Given the description of an element on the screen output the (x, y) to click on. 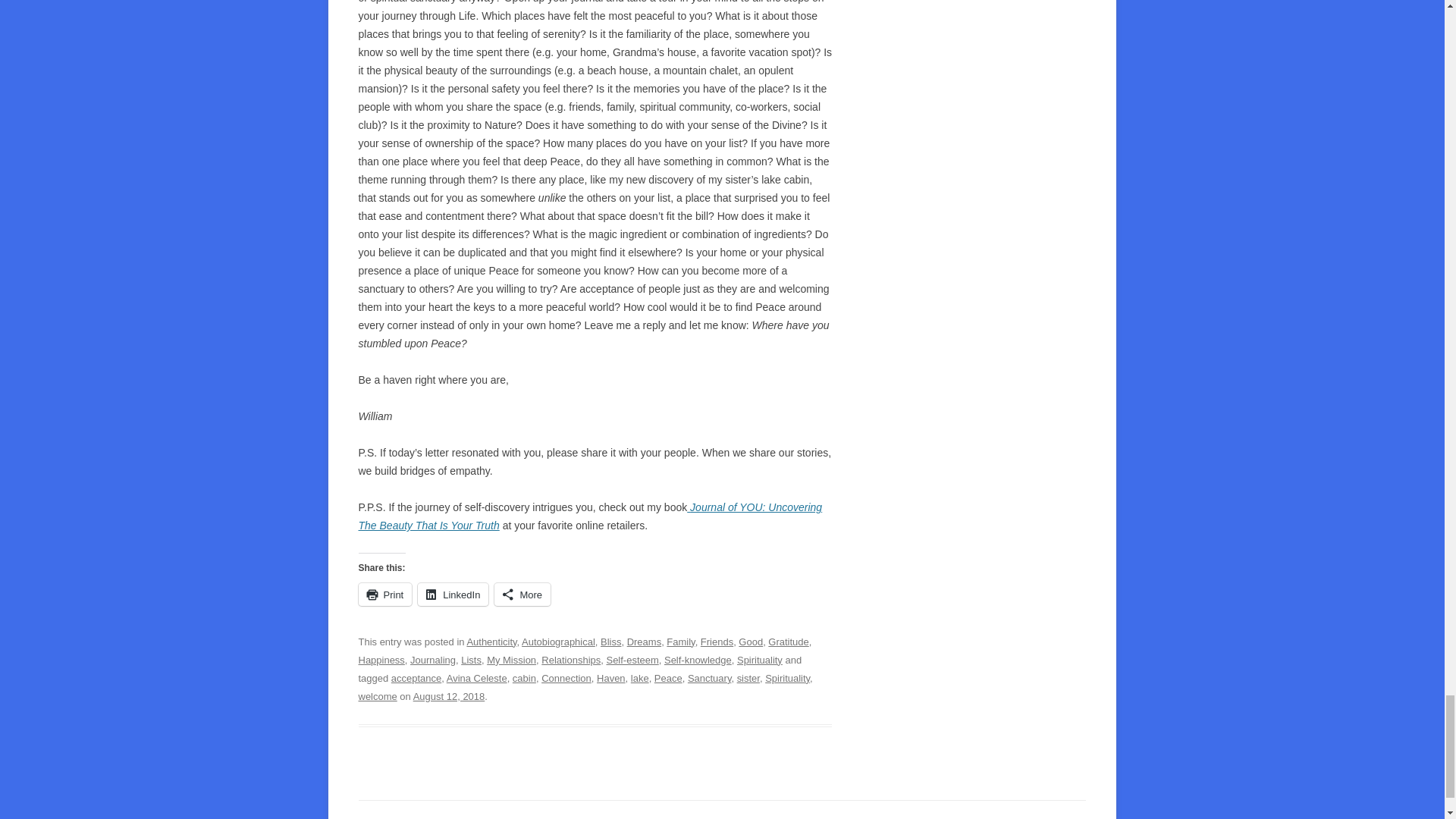
5:25 am (448, 696)
Click to share on LinkedIn (452, 594)
Click to print (385, 594)
